Given the description of an element on the screen output the (x, y) to click on. 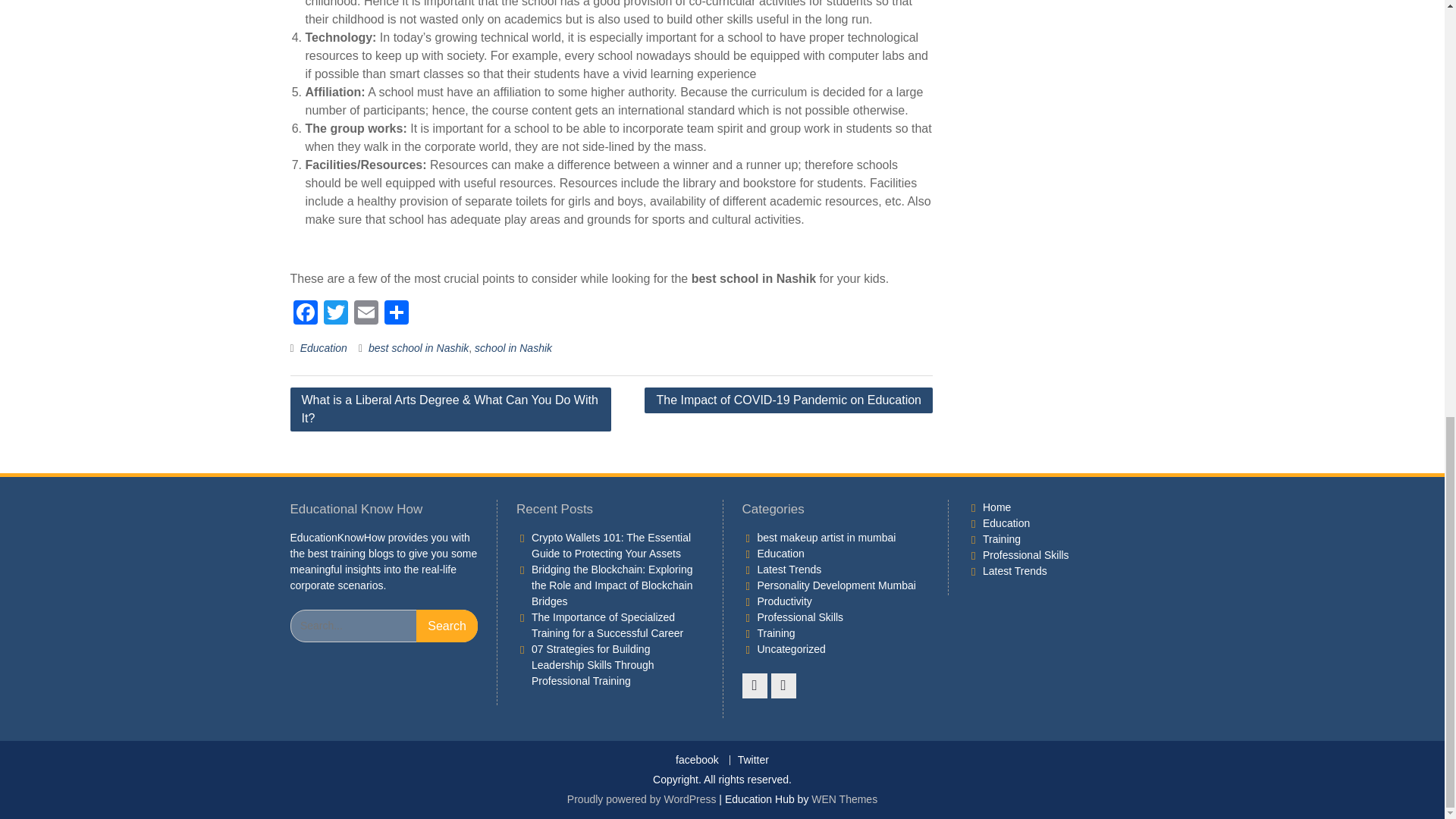
Education (323, 347)
Personality Development in Mumbai (836, 585)
Best makeup artist (826, 537)
Professional Skills (800, 616)
best makeup artist in mumbai (826, 537)
best school in Nashik (418, 347)
Search (446, 625)
Latest Trends (789, 569)
Email (365, 314)
